Given the description of an element on the screen output the (x, y) to click on. 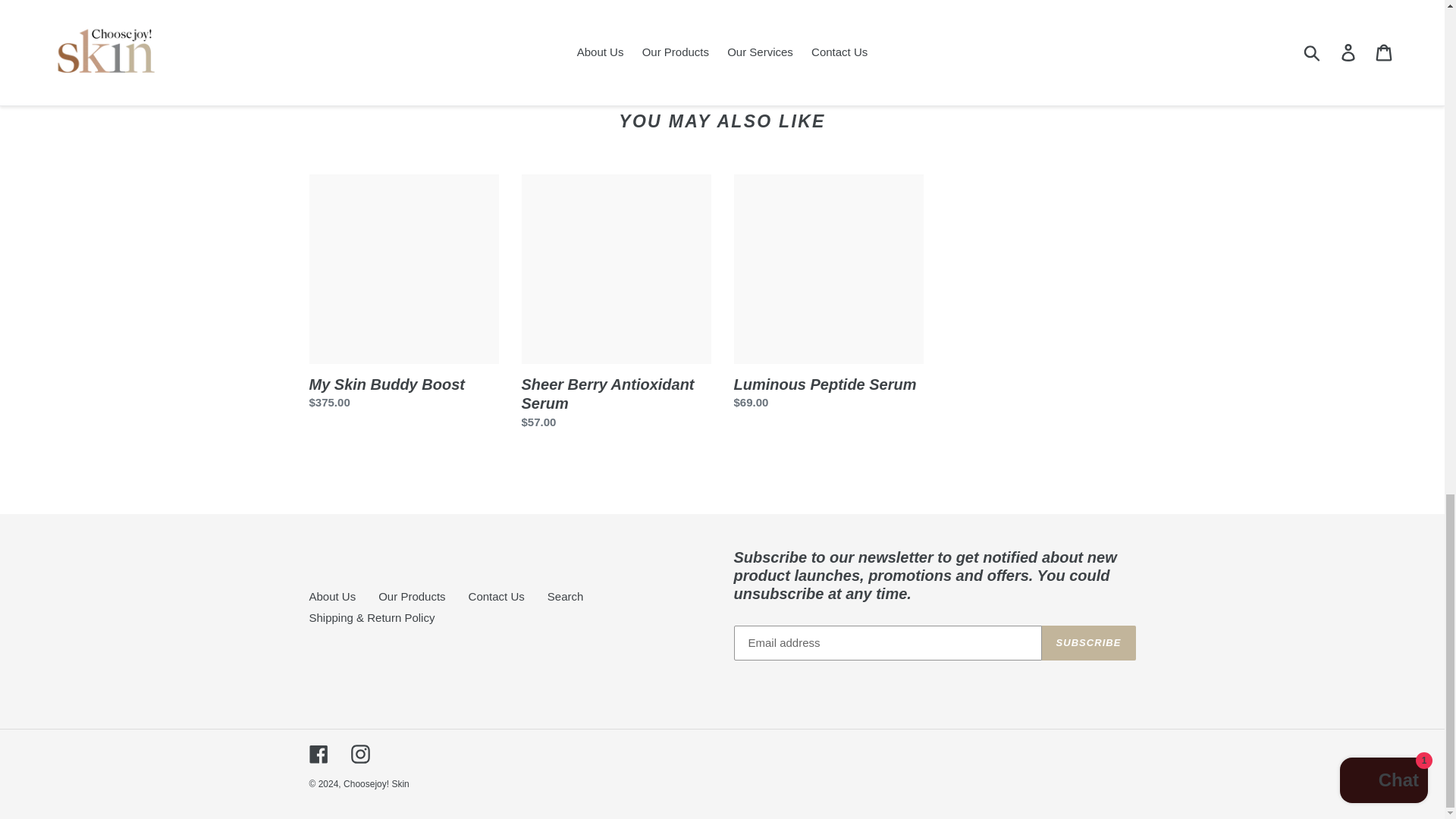
Choosejoy! Skin (914, 49)
SUBSCRIBE (376, 783)
Our Products (1088, 642)
Search (411, 595)
About Us (565, 595)
Contact Us (769, 49)
Facebook (332, 595)
Instagram (496, 595)
